Given the description of an element on the screen output the (x, y) to click on. 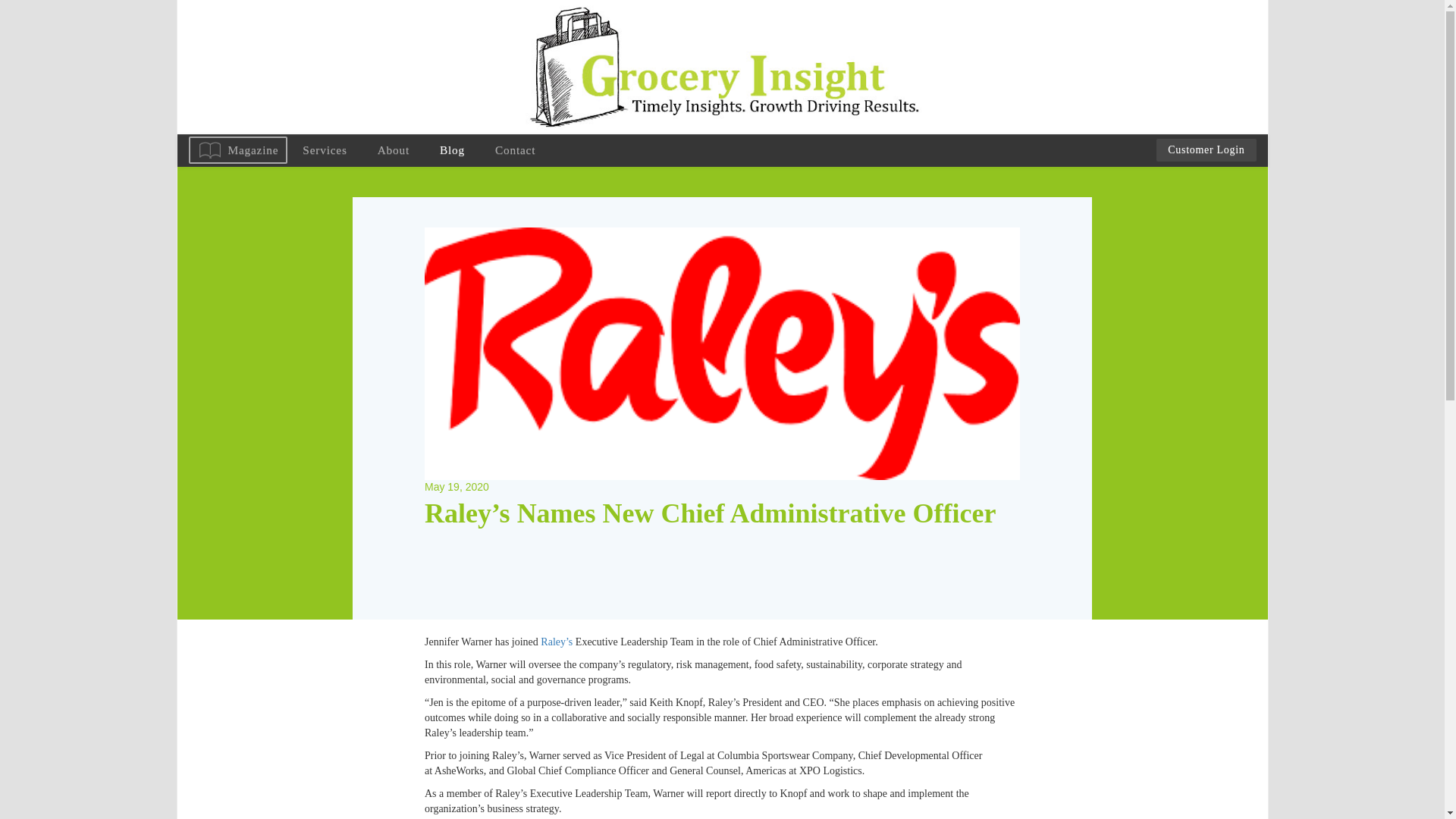
Customer Login (1205, 149)
Contact (515, 149)
Blog (452, 149)
About (393, 149)
Services (323, 149)
Magazine (237, 150)
